Given the description of an element on the screen output the (x, y) to click on. 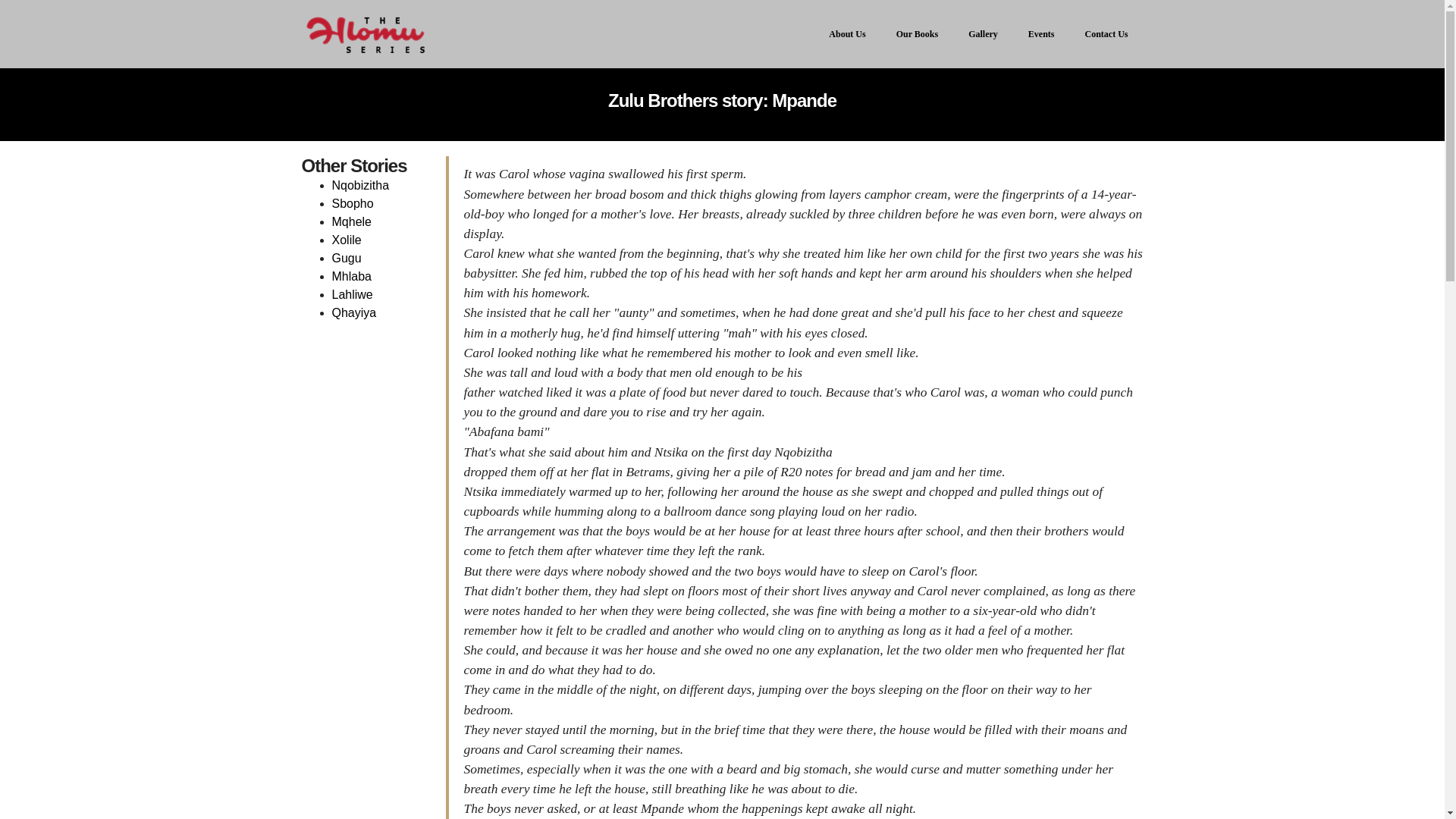
Qhayiya (354, 312)
Xolile (346, 239)
Gallery (982, 33)
Lahliwe (351, 294)
Sbopho (352, 203)
About Us (846, 33)
Mhlaba (351, 276)
Mqhele (351, 221)
Contact Us (1105, 33)
Our Books (916, 33)
Gugu (346, 257)
Events (1040, 33)
Nqobizitha (360, 185)
